Given the description of an element on the screen output the (x, y) to click on. 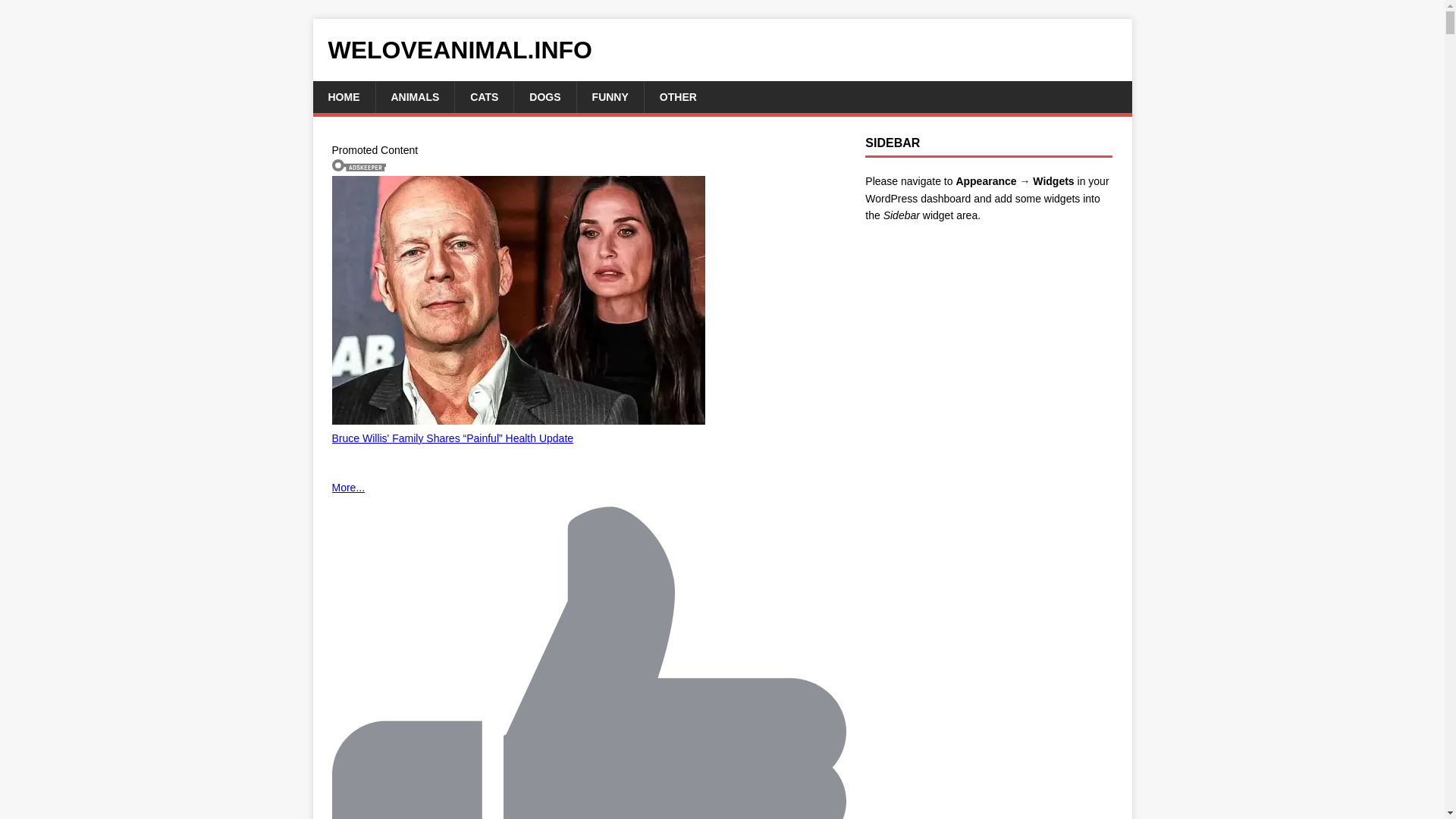
FUNNY (609, 97)
WELOVEANIMAL.INFO (721, 49)
DOGS (544, 97)
ANIMALS (414, 97)
HOME (343, 97)
weloveanimal.info (721, 49)
CATS (483, 97)
OTHER (677, 97)
